Given the description of an element on the screen output the (x, y) to click on. 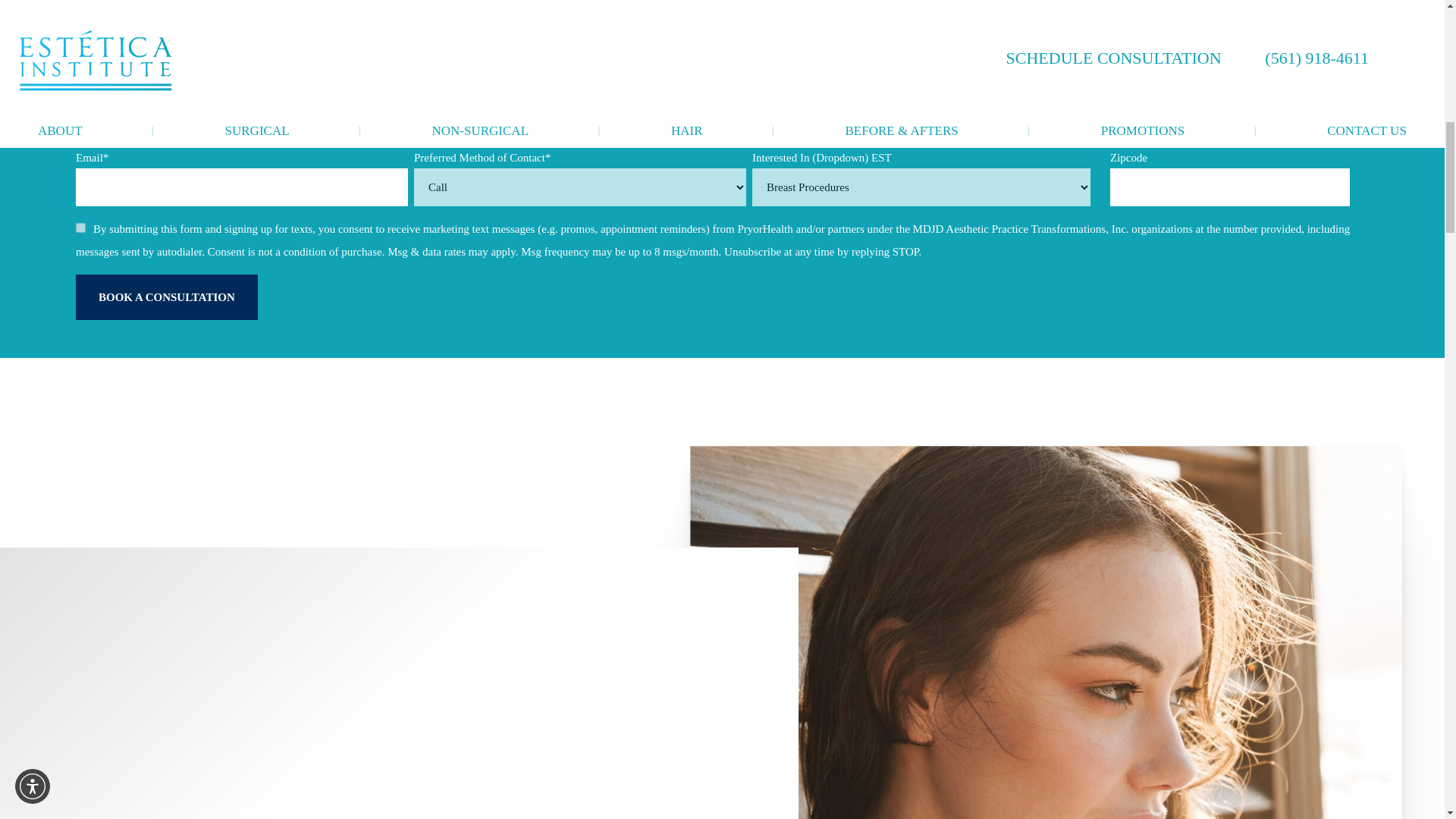
true (80, 227)
Book A Consultation (166, 297)
